Given the description of an element on the screen output the (x, y) to click on. 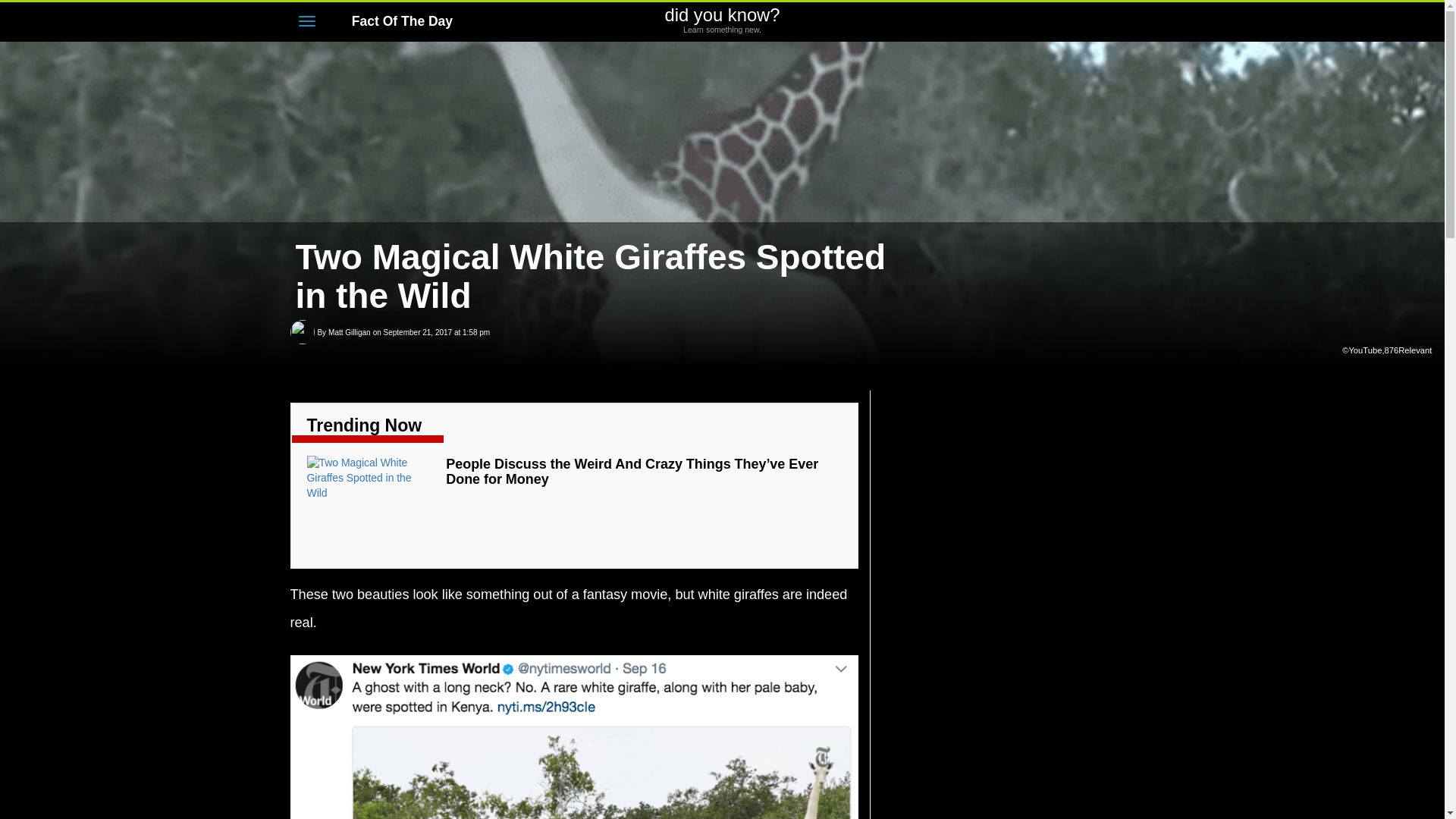
Instagram (1091, 23)
Matt Gilligan (722, 20)
Twitter (349, 332)
Fact Of The Day (1063, 23)
Posts by Matt Gilligan (393, 20)
Tumblr (349, 332)
Facebook (1119, 23)
Toggle navigation (1034, 23)
